Given the description of an element on the screen output the (x, y) to click on. 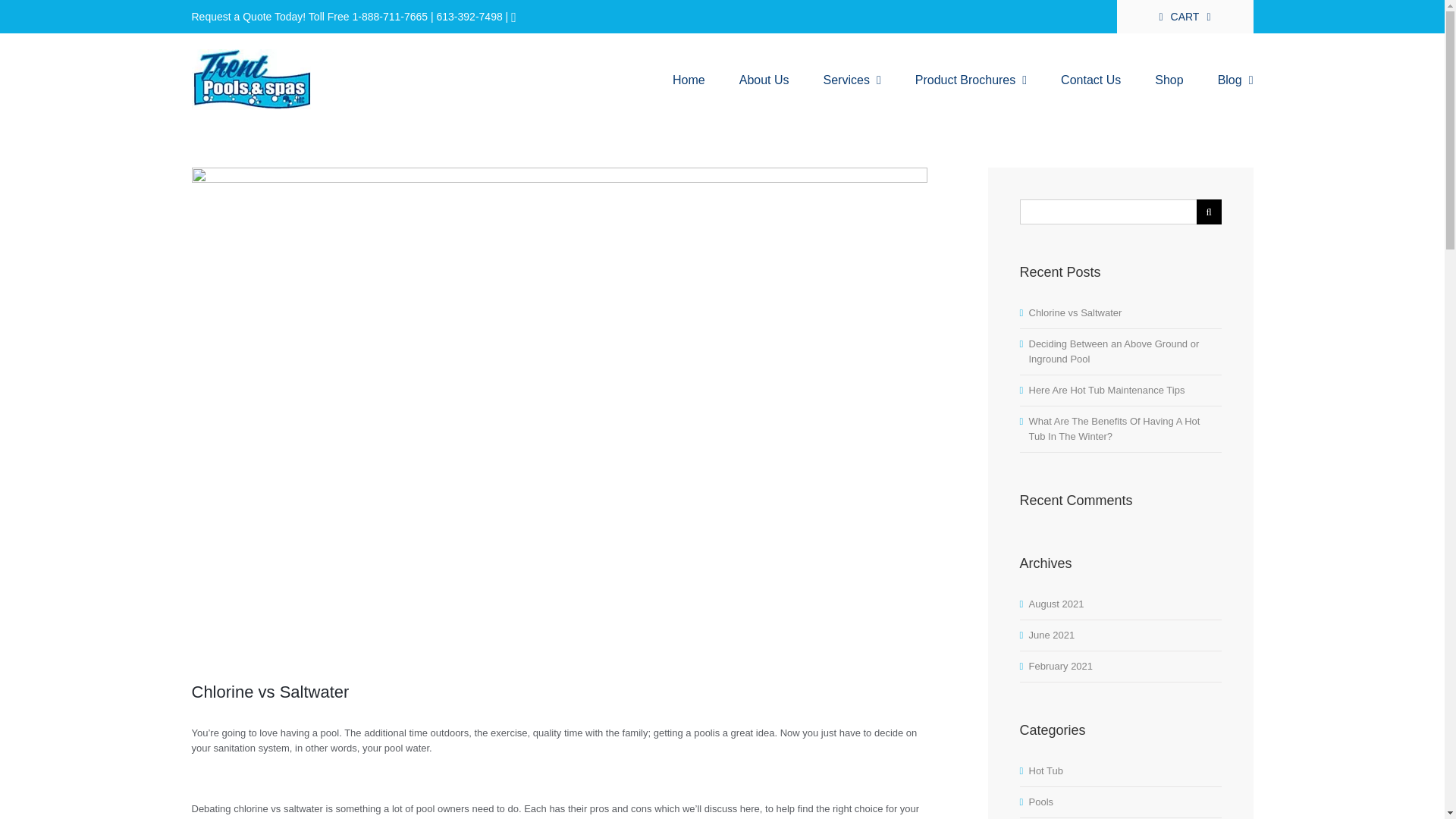
Chlorine vs Saltwater (1074, 312)
613-392-7498 (469, 16)
Product Brochures (970, 79)
CART (1184, 16)
1-888-711-7665 (390, 16)
